Given the description of an element on the screen output the (x, y) to click on. 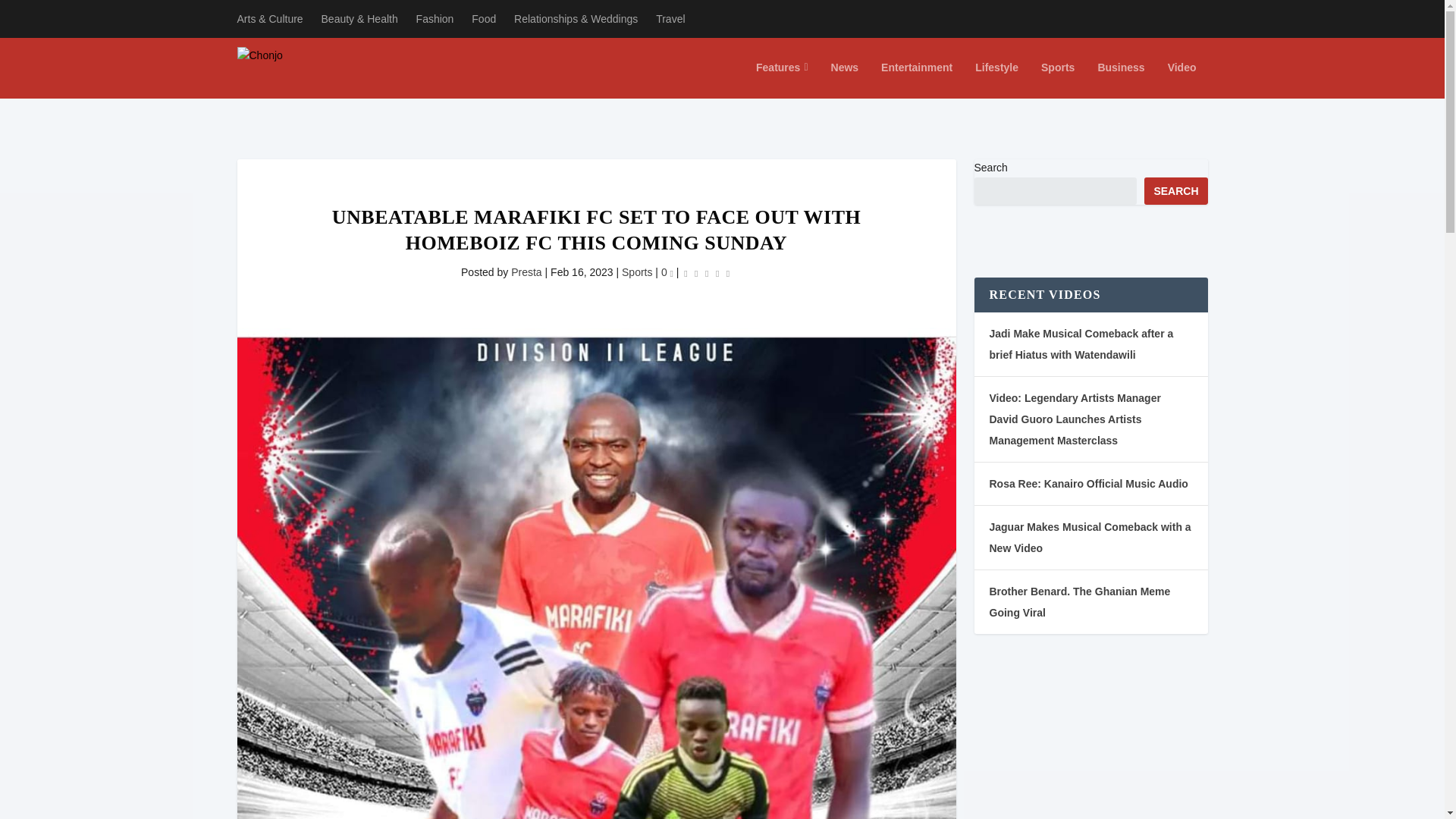
Entertainment (916, 79)
Lifestyle (996, 79)
Sports (636, 272)
Sports (1057, 79)
Fashion (435, 18)
Features (781, 79)
Business (1120, 79)
Presta (526, 272)
Posts by Presta (526, 272)
0 (666, 272)
